Given the description of an element on the screen output the (x, y) to click on. 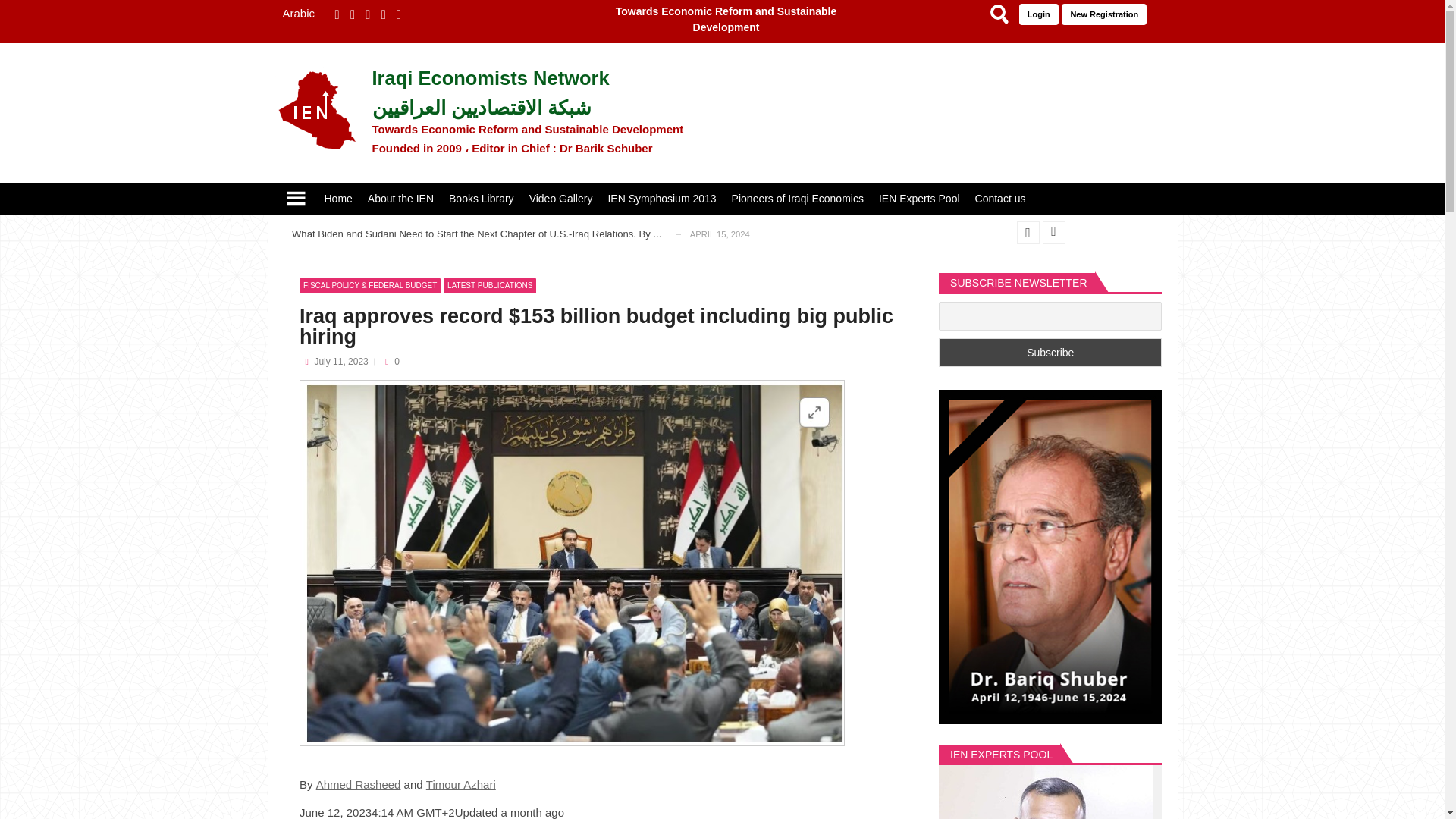
Advertisement (1009, 110)
Subscribe (1050, 352)
